Given the description of an element on the screen output the (x, y) to click on. 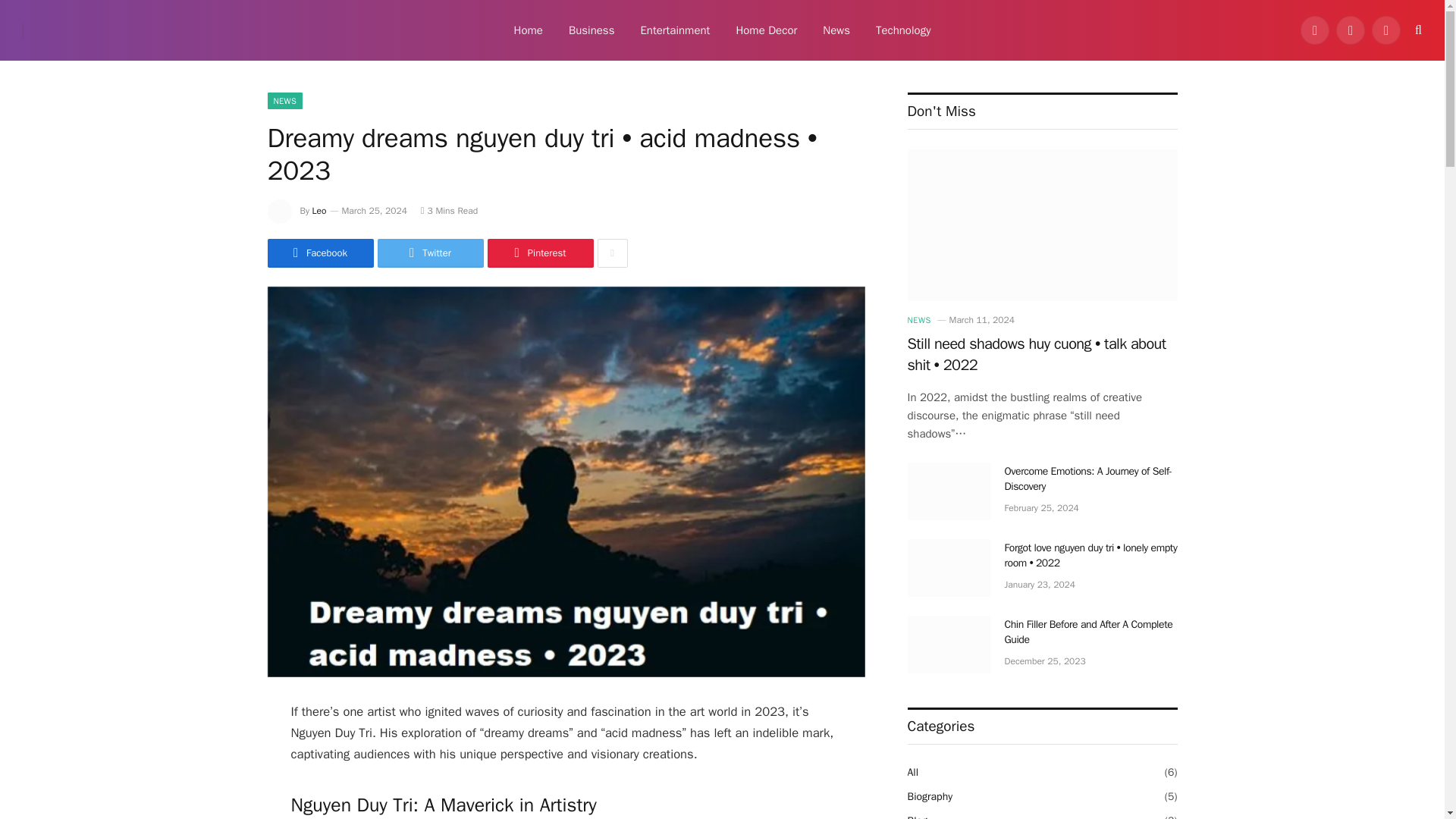
Home Decor (765, 30)
Pinterest (539, 253)
Leo (319, 210)
Posts by Leo (319, 210)
Entertainment (674, 30)
NEWS (284, 100)
Technology (903, 30)
Twitter (430, 253)
Share on Facebook (319, 253)
Home (528, 30)
